Given the description of an element on the screen output the (x, y) to click on. 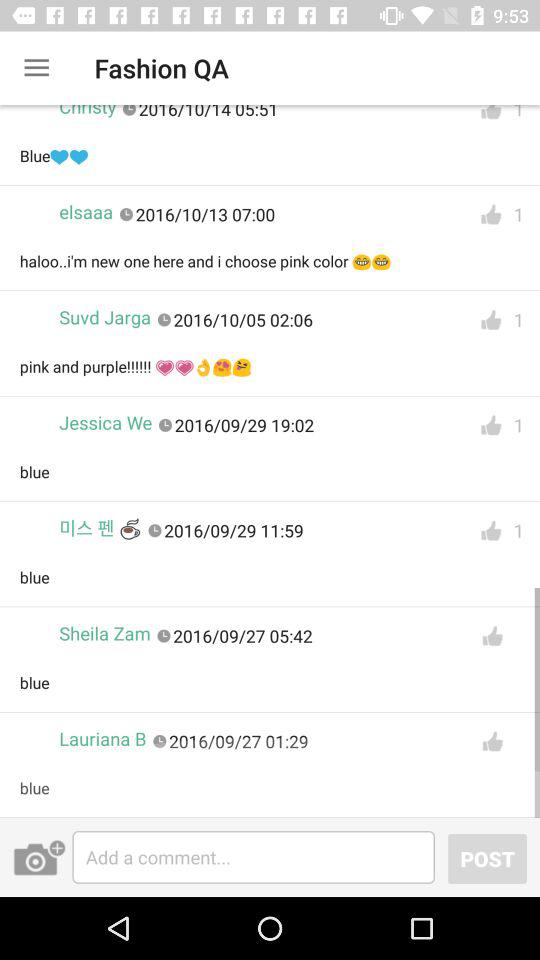
add a picture (39, 857)
